Given the description of an element on the screen output the (x, y) to click on. 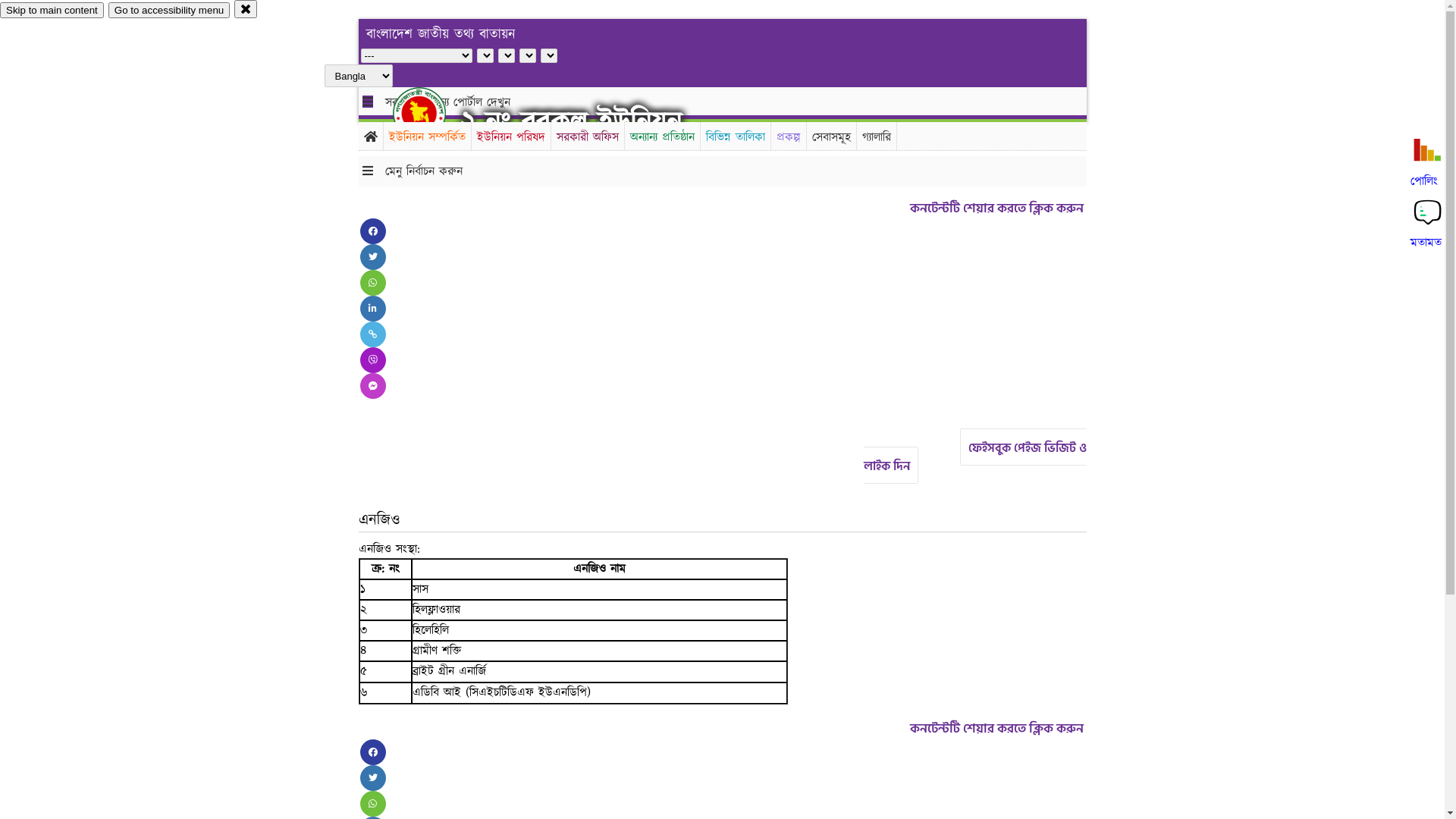
Go to accessibility menu Element type: text (168, 10)
Skip to main content Element type: text (51, 10)

                
             Element type: hover (431, 112)
close Element type: hover (245, 9)
